Given the description of an element on the screen output the (x, y) to click on. 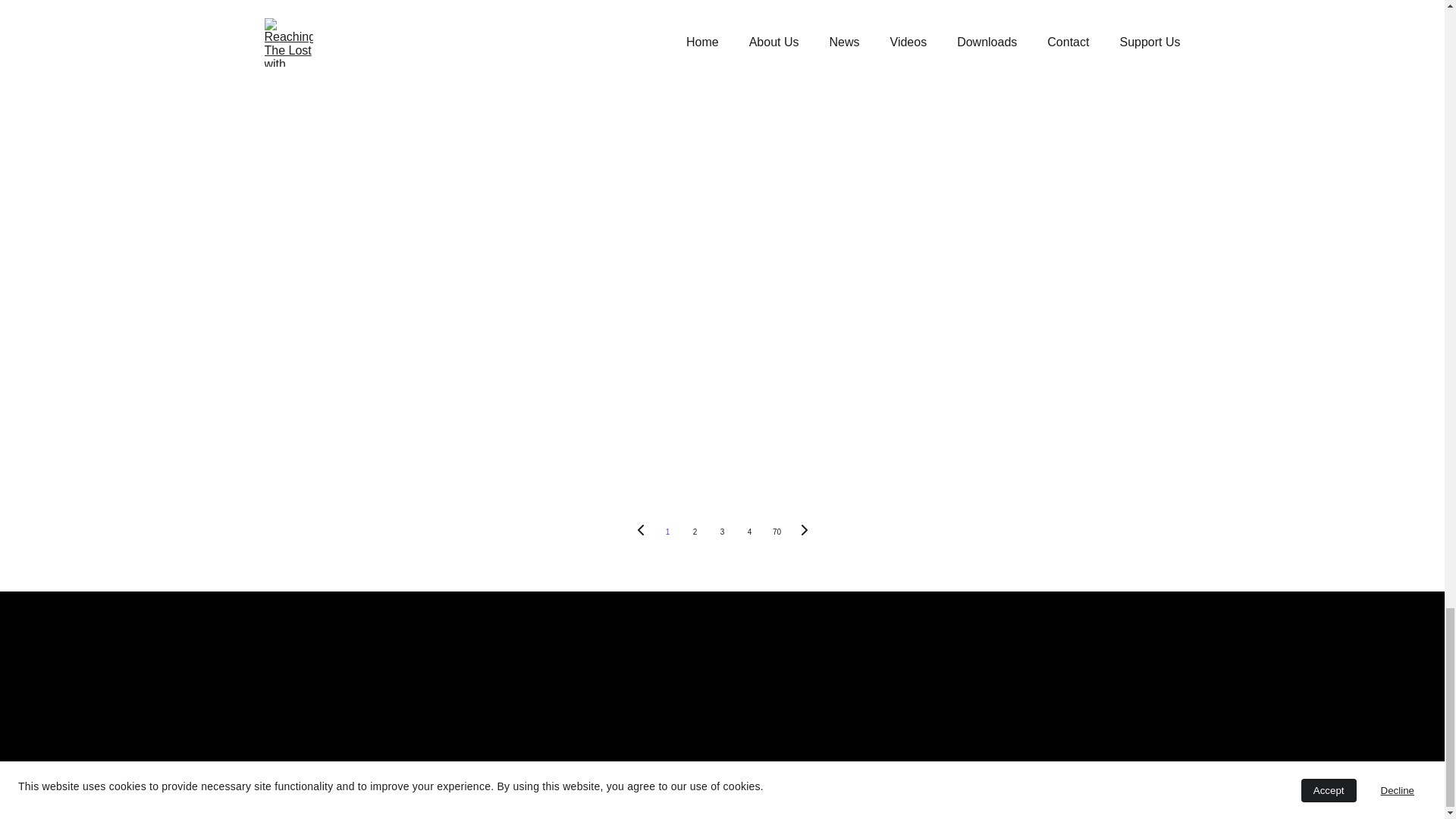
3 (721, 532)
1 (667, 532)
2 (694, 532)
4 (748, 532)
70 (776, 532)
